Given the description of an element on the screen output the (x, y) to click on. 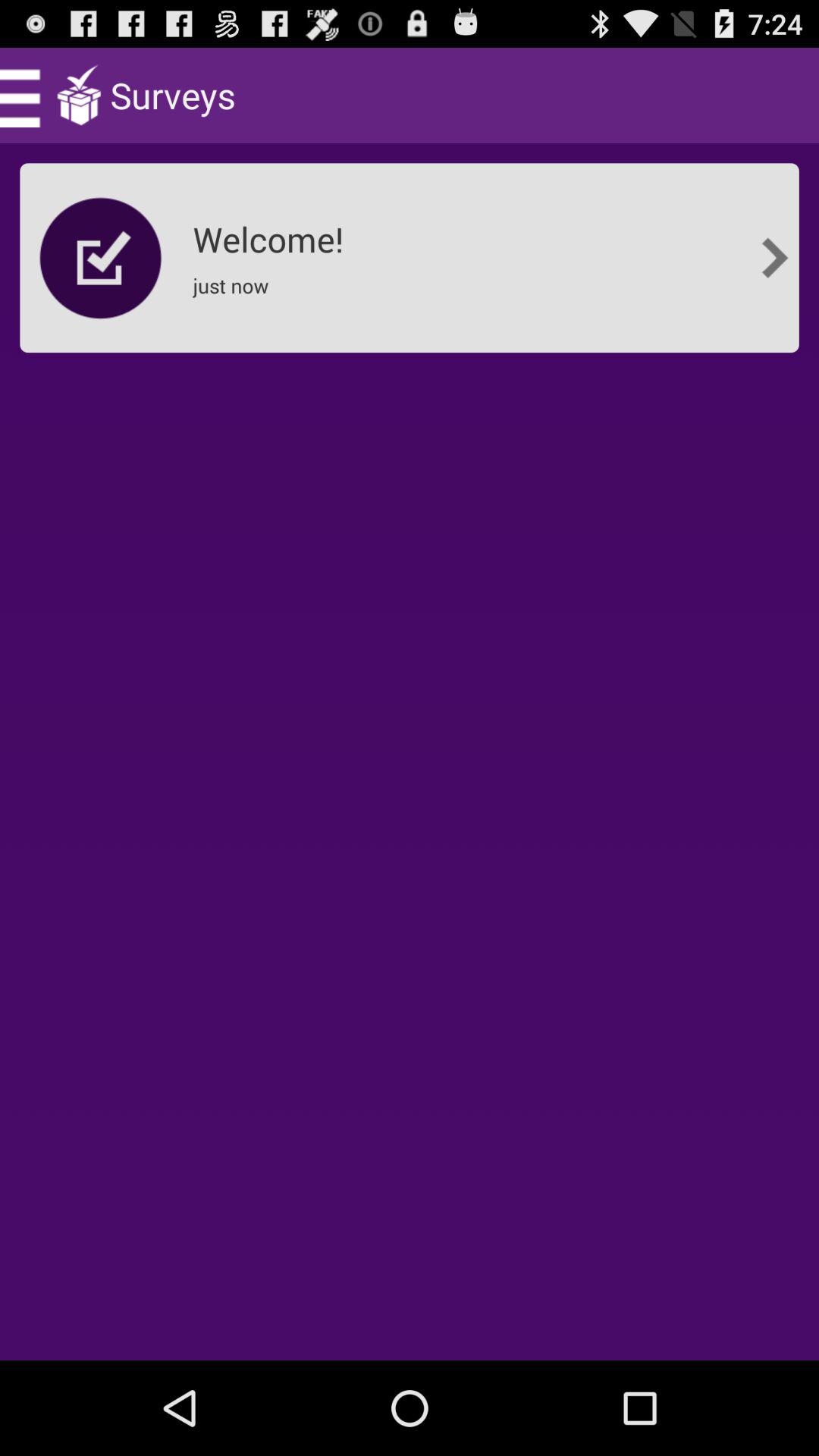
turn off the welcome! item (272, 234)
